Given the description of an element on the screen output the (x, y) to click on. 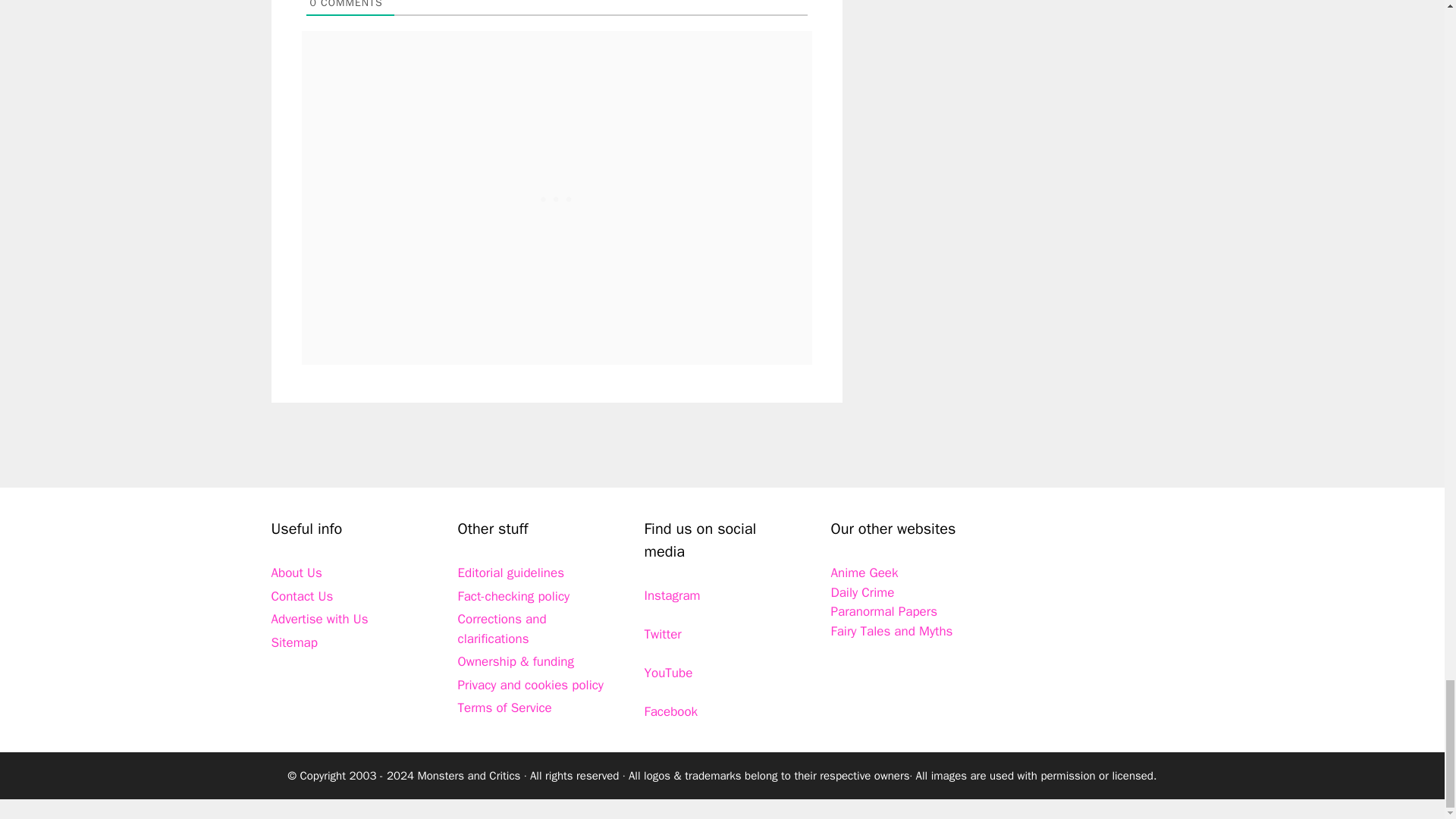
YouTube (669, 672)
Instagram (672, 595)
Privacy and cookies policy (531, 684)
Advertise with Us (319, 618)
Editorial guidelines (511, 572)
About Us (295, 572)
Sitemap (293, 642)
Anime Geek (864, 572)
Fact-checking policy (514, 596)
Facebook (671, 711)
Corrections and clarifications (502, 628)
Contact Us (301, 596)
Terms of Service (504, 707)
Twitter (663, 634)
